Given the description of an element on the screen output the (x, y) to click on. 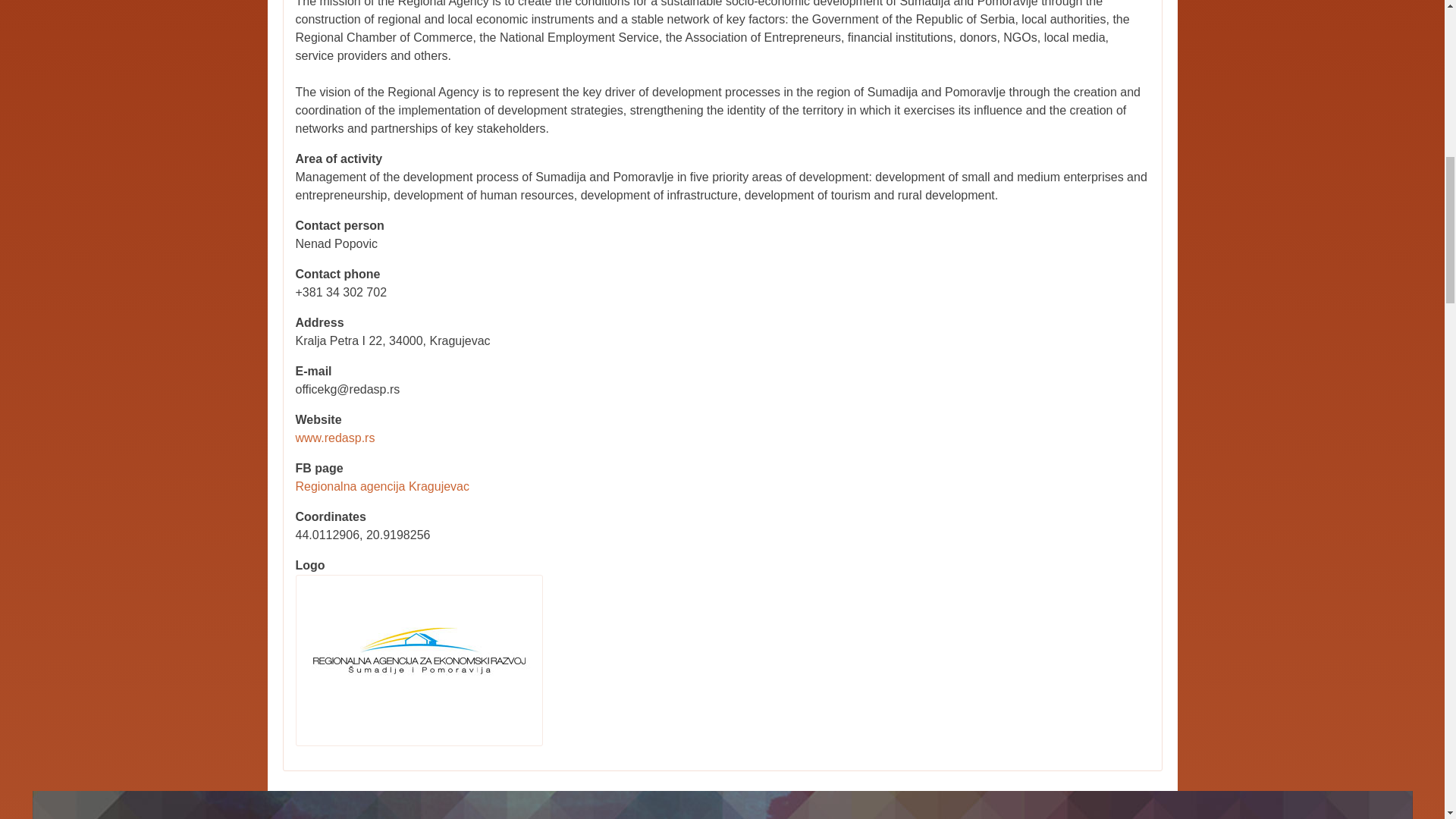
Regionalna agencija Kragujevac (382, 486)
www.redasp.rs (335, 437)
